Given the description of an element on the screen output the (x, y) to click on. 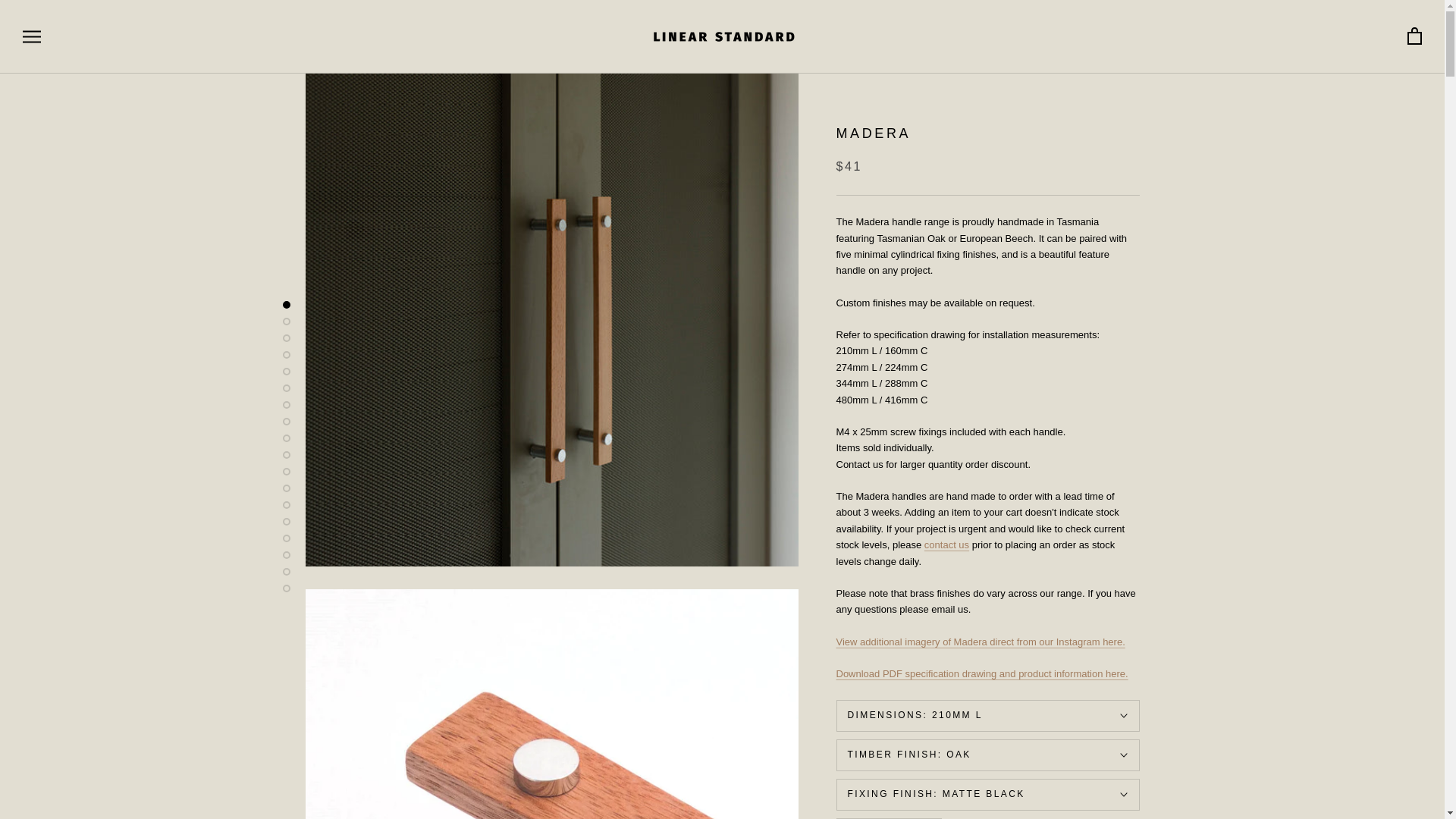
FIXING FINISH: MATTE BLACK Element type: text (987, 794)
TIMBER FINISH: OAK Element type: text (987, 755)
DIMENSIONS: 210MM L Element type: text (987, 715)
contact us Element type: text (946, 544)
